Given the description of an element on the screen output the (x, y) to click on. 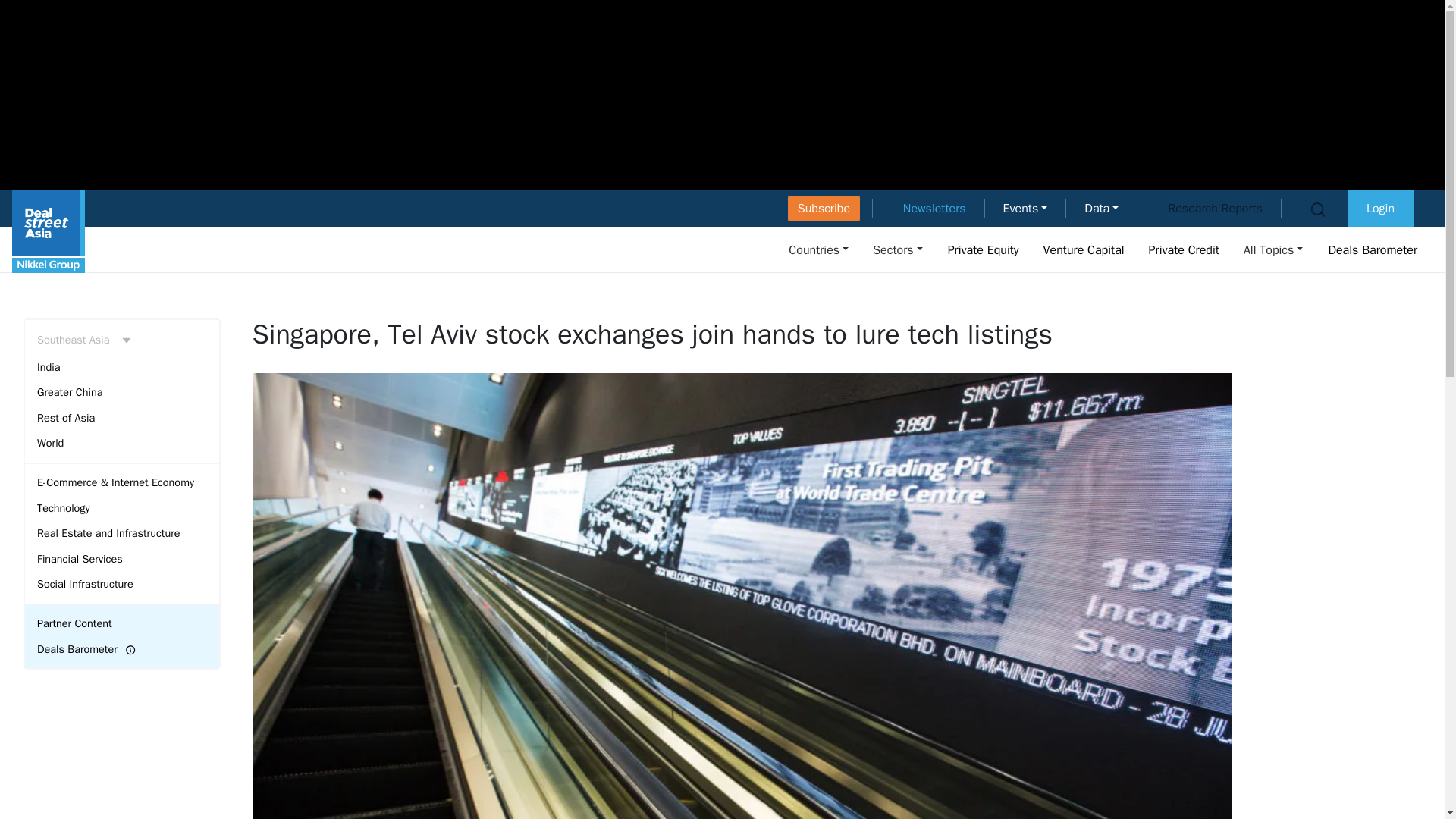
Research Reports (1214, 208)
Events (1025, 208)
Countries (818, 250)
Sectors (897, 250)
Deals Barometer (1372, 250)
Private Credit (1183, 250)
All Topics (1272, 250)
Subscribe (823, 208)
Data (1101, 208)
Venture Capital (1083, 250)
